Given the description of an element on the screen output the (x, y) to click on. 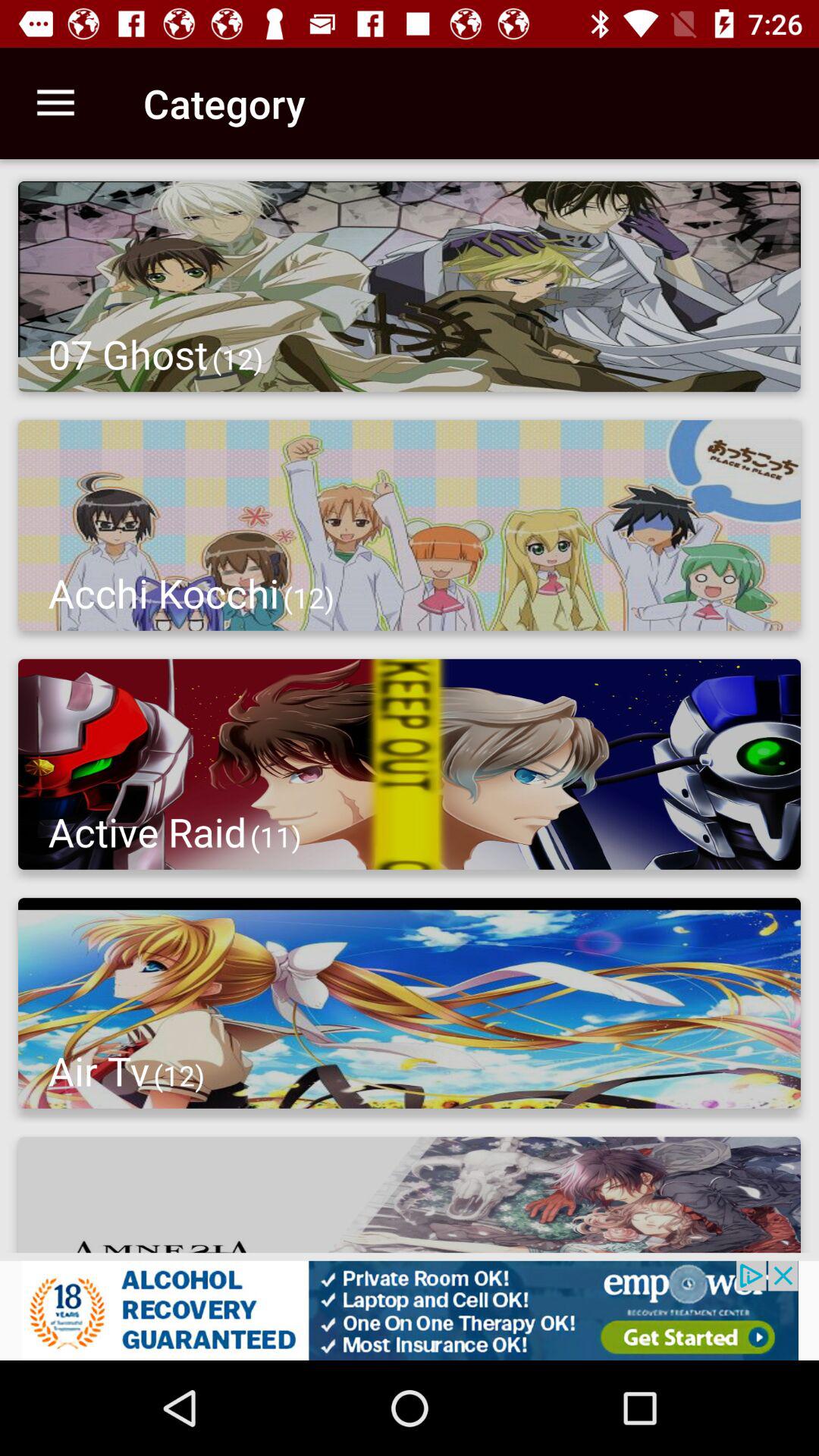
advertisement area (409, 1310)
